Given the description of an element on the screen output the (x, y) to click on. 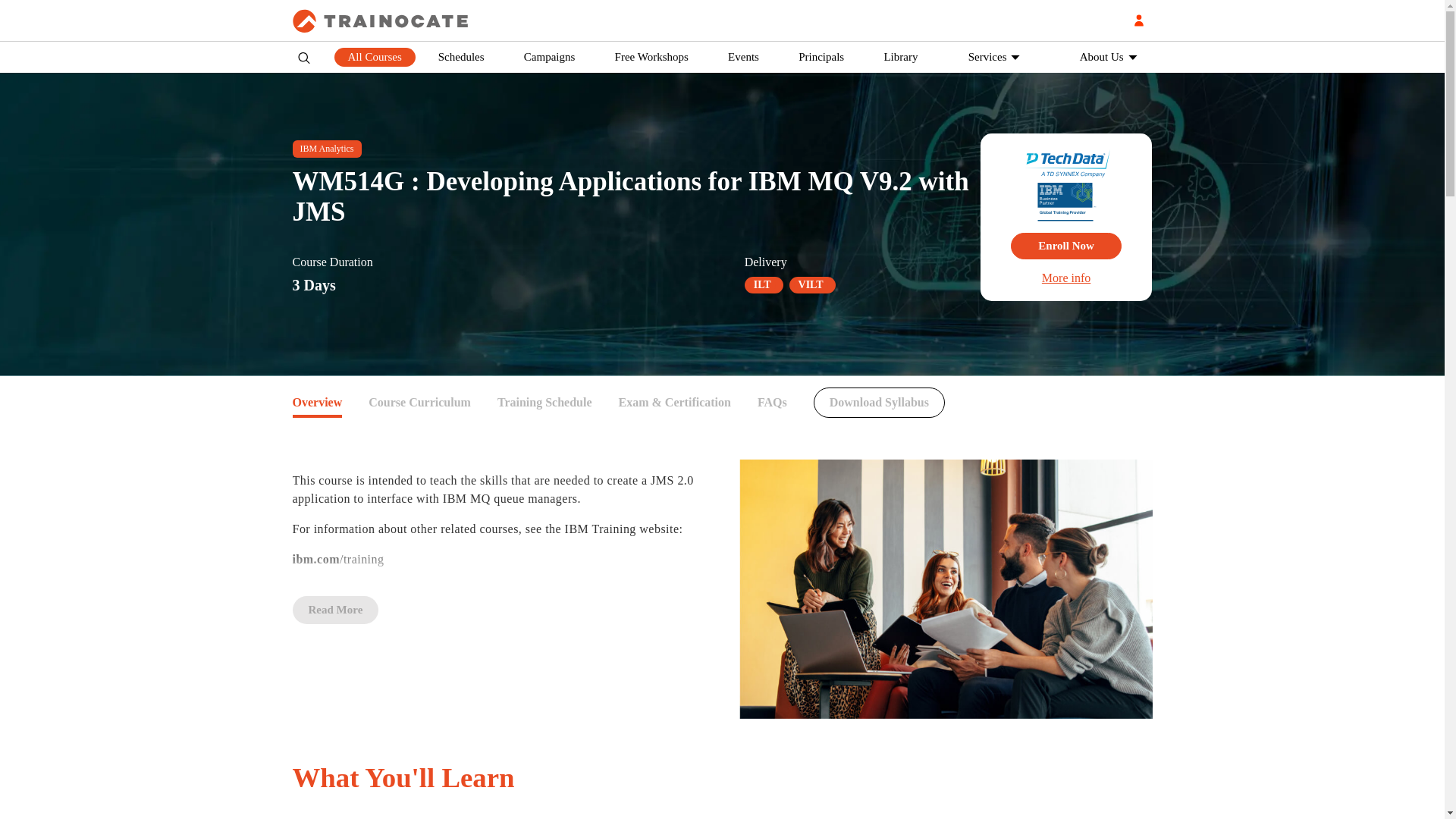
Download Syllabus (878, 402)
All Courses (373, 56)
More info (1065, 278)
logo (388, 20)
